Given the description of an element on the screen output the (x, y) to click on. 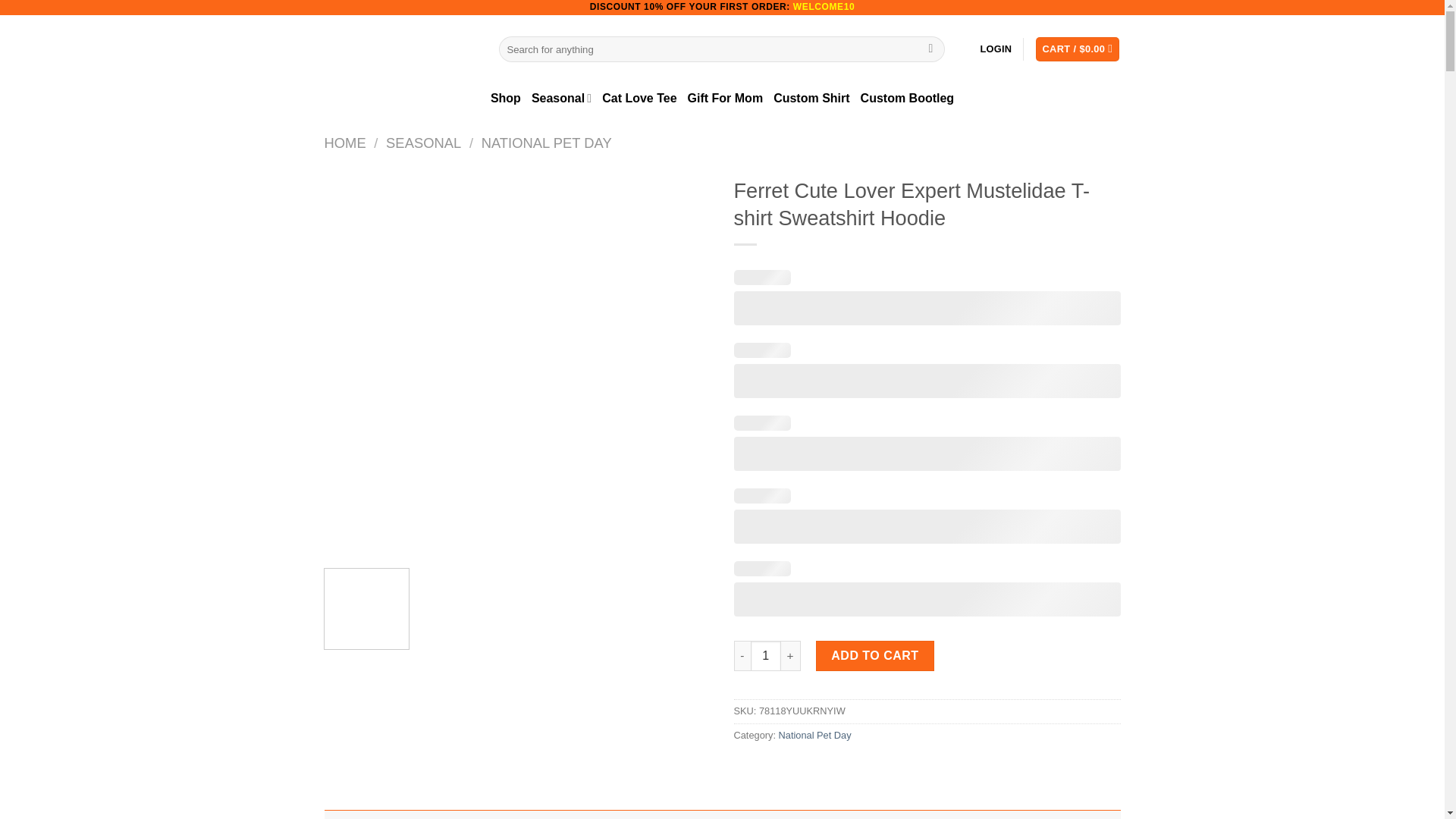
SEASONAL (423, 142)
Seasonal (561, 98)
TrendingTeesToday (400, 49)
Cart (1077, 49)
LOGIN (995, 49)
National Pet Day (814, 735)
Shop (505, 98)
1 (765, 655)
HOME (345, 142)
Gift For Mom (724, 98)
